Given the description of an element on the screen output the (x, y) to click on. 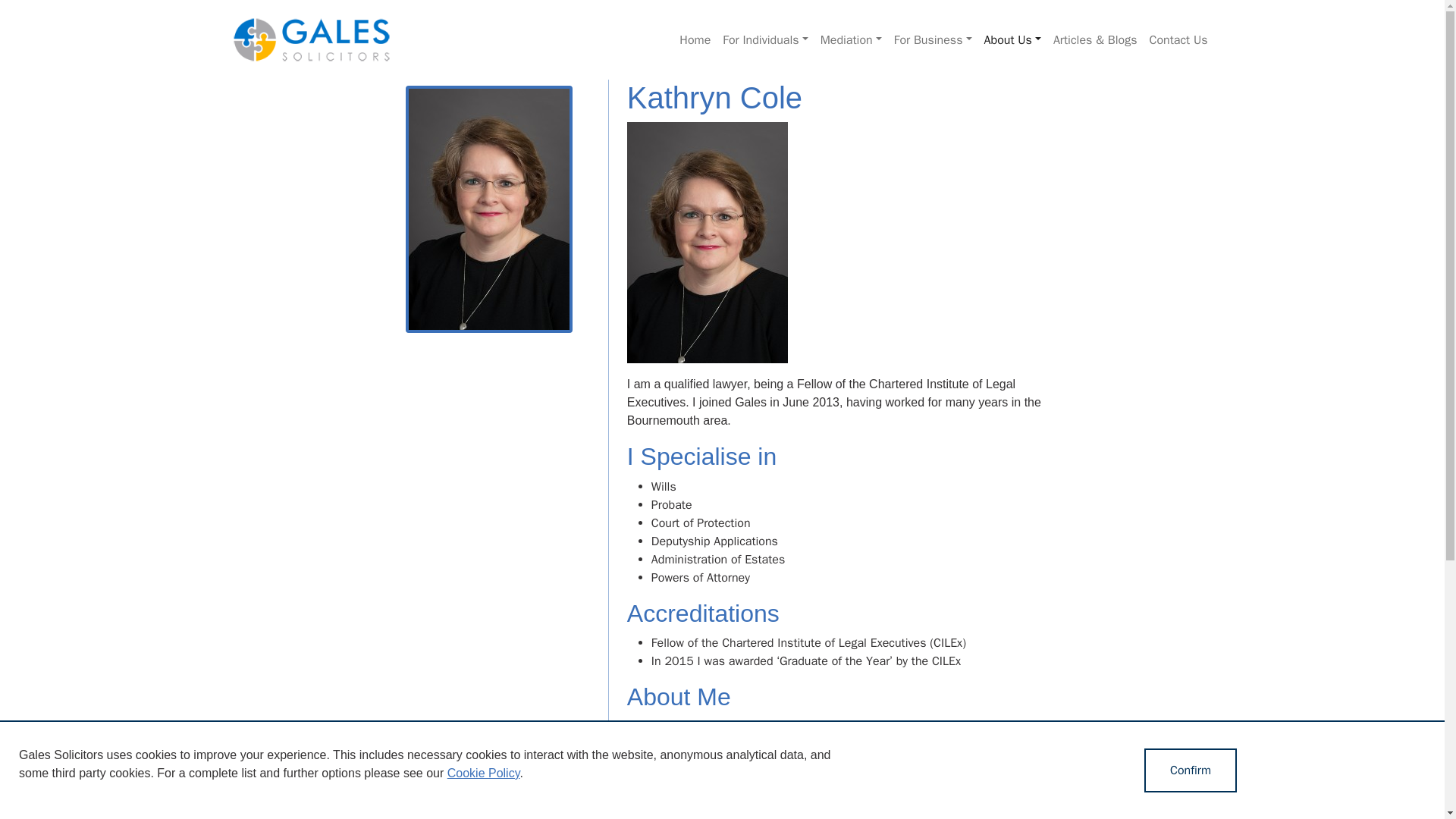
For Individuals (764, 40)
For Business (933, 40)
Cookie Policy (482, 772)
Mediation (850, 40)
Home (694, 40)
Contact Us (1177, 40)
About Us (1012, 40)
